Given the description of an element on the screen output the (x, y) to click on. 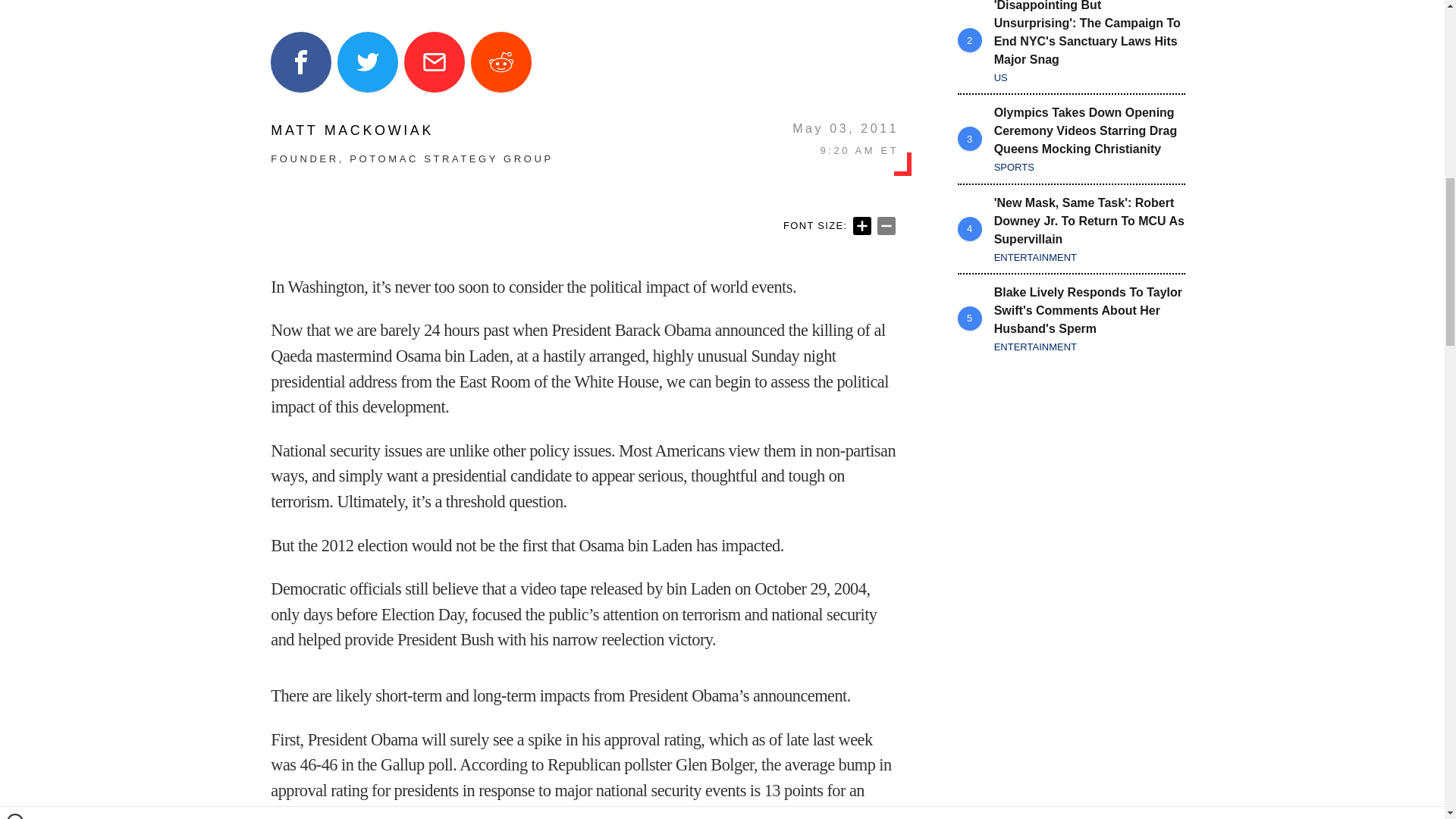
View More Articles By Matt Mackowiak (411, 130)
Close window (14, 6)
MATT MACKOWIAK (411, 130)
